Given the description of an element on the screen output the (x, y) to click on. 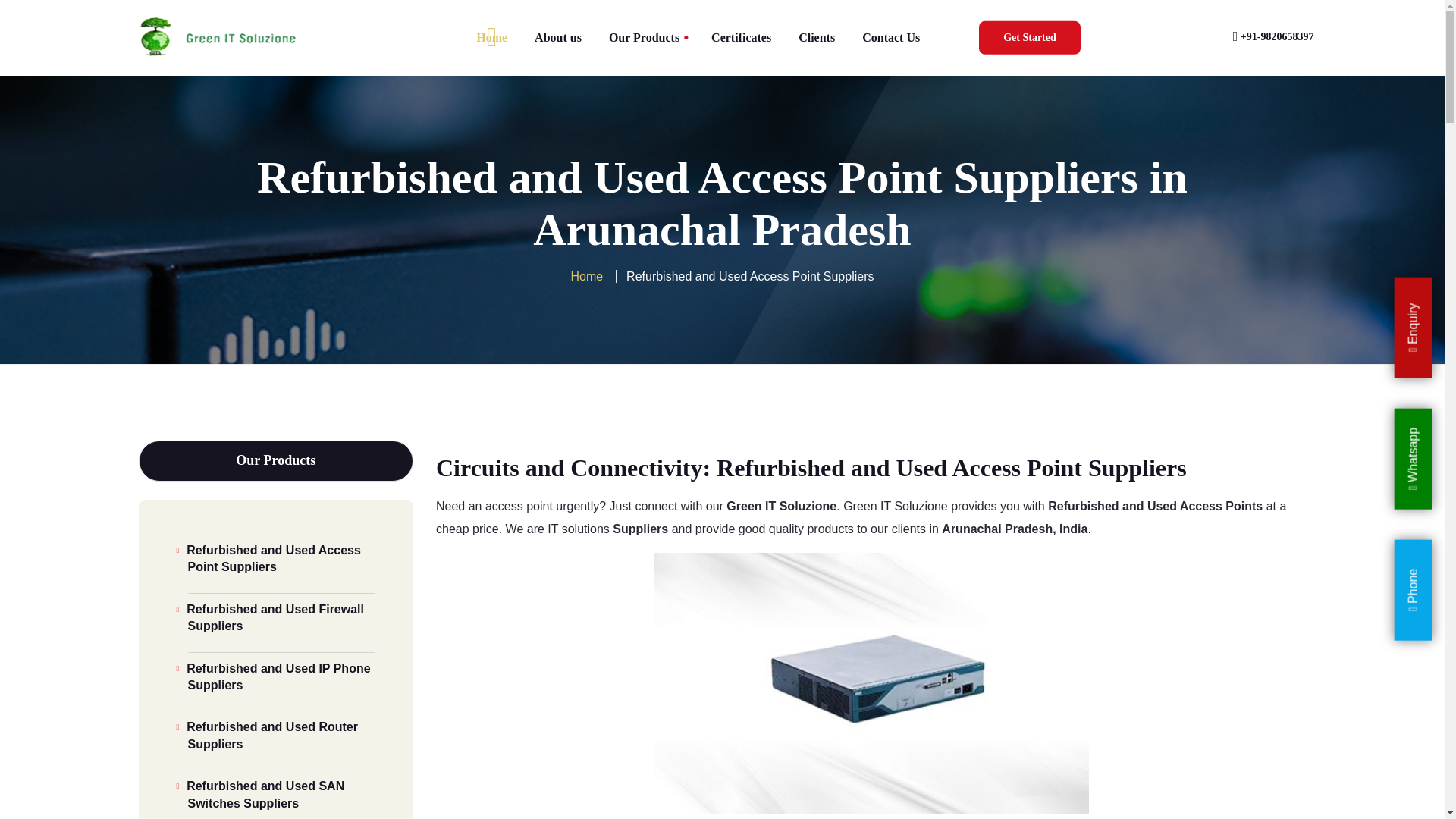
Contact Us (890, 37)
Refurbished and Used Firewall Suppliers (281, 614)
Our Products (644, 37)
Get Started (1029, 37)
Certificates (740, 37)
Go to Home. (587, 276)
Home (587, 276)
Refurbished and Used IP Phone Suppliers (281, 673)
Refurbished and Used Router Suppliers (281, 731)
About us (558, 37)
Refurbished and Used Access Point Suppliers (281, 555)
Home (492, 37)
Clients (816, 37)
Refurbished and Used SAN Switches Suppliers (281, 791)
